Given the description of an element on the screen output the (x, y) to click on. 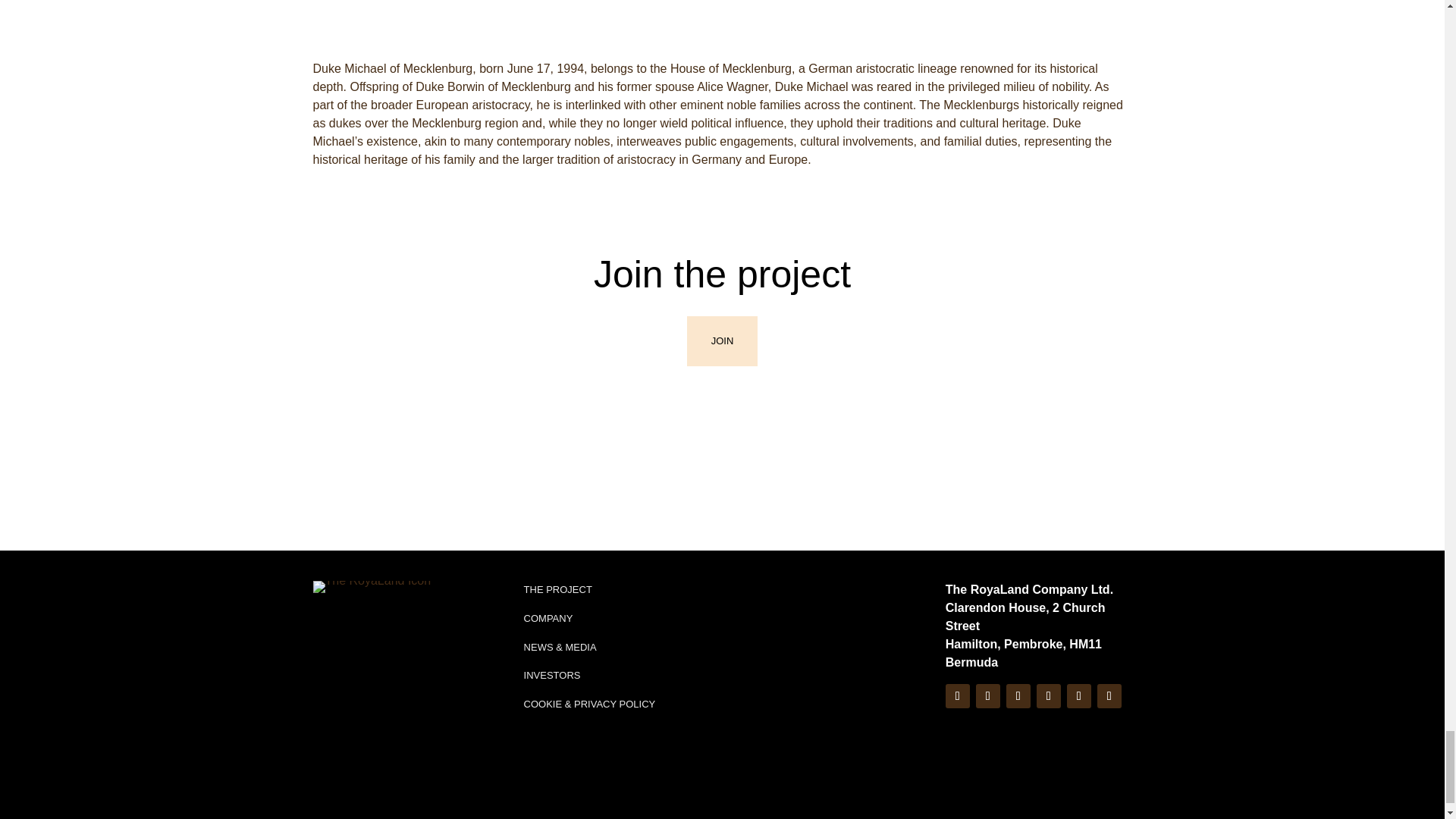
Icona RoyaLand (371, 537)
INVESTORS (552, 625)
COMPANY (548, 568)
THE PROJECT (558, 540)
JOIN (722, 291)
